Given the description of an element on the screen output the (x, y) to click on. 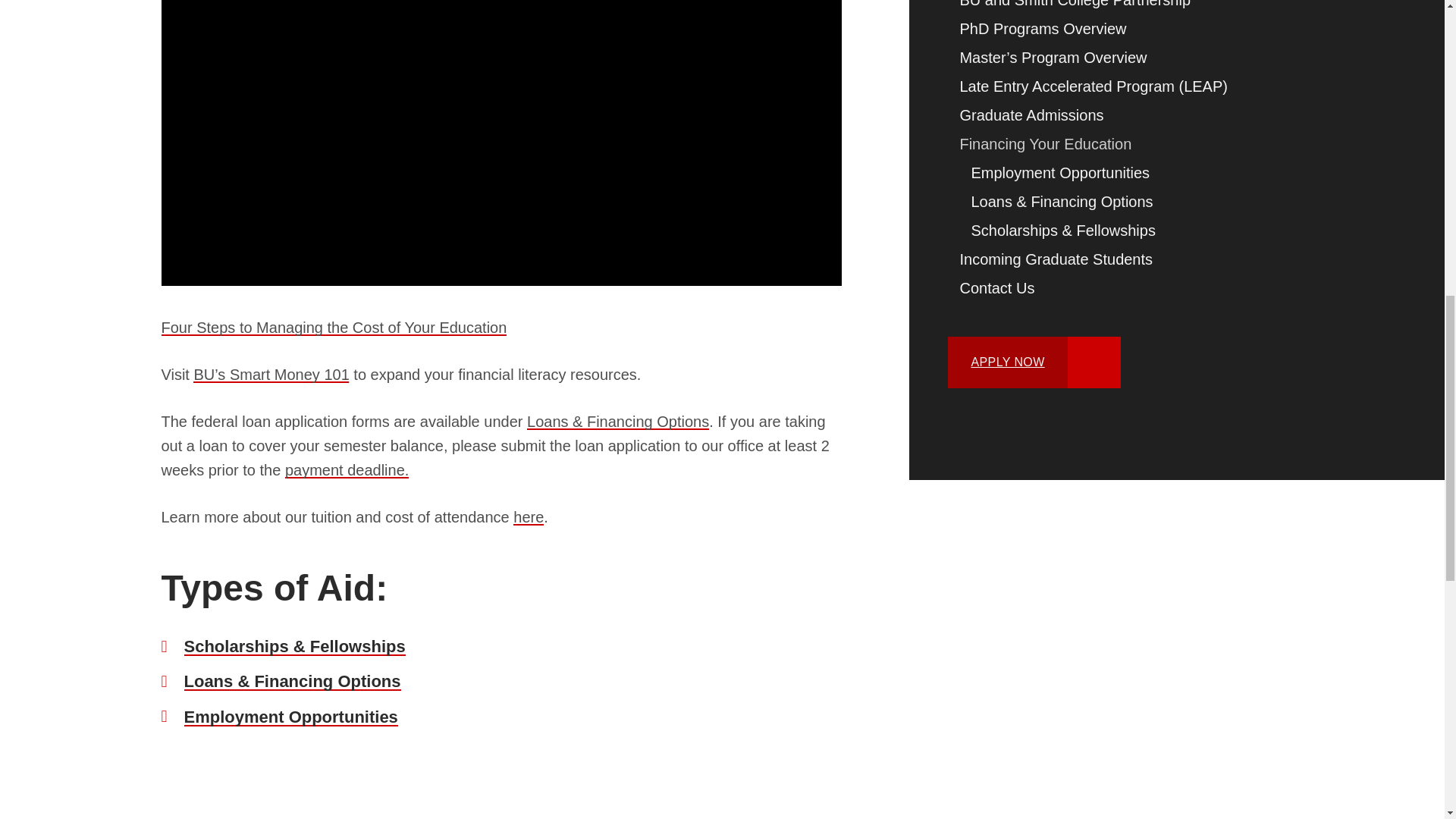
Four Steps to Managing the Cost of Your Education (333, 327)
here (528, 516)
payment deadline. (347, 469)
